Given the description of an element on the screen output the (x, y) to click on. 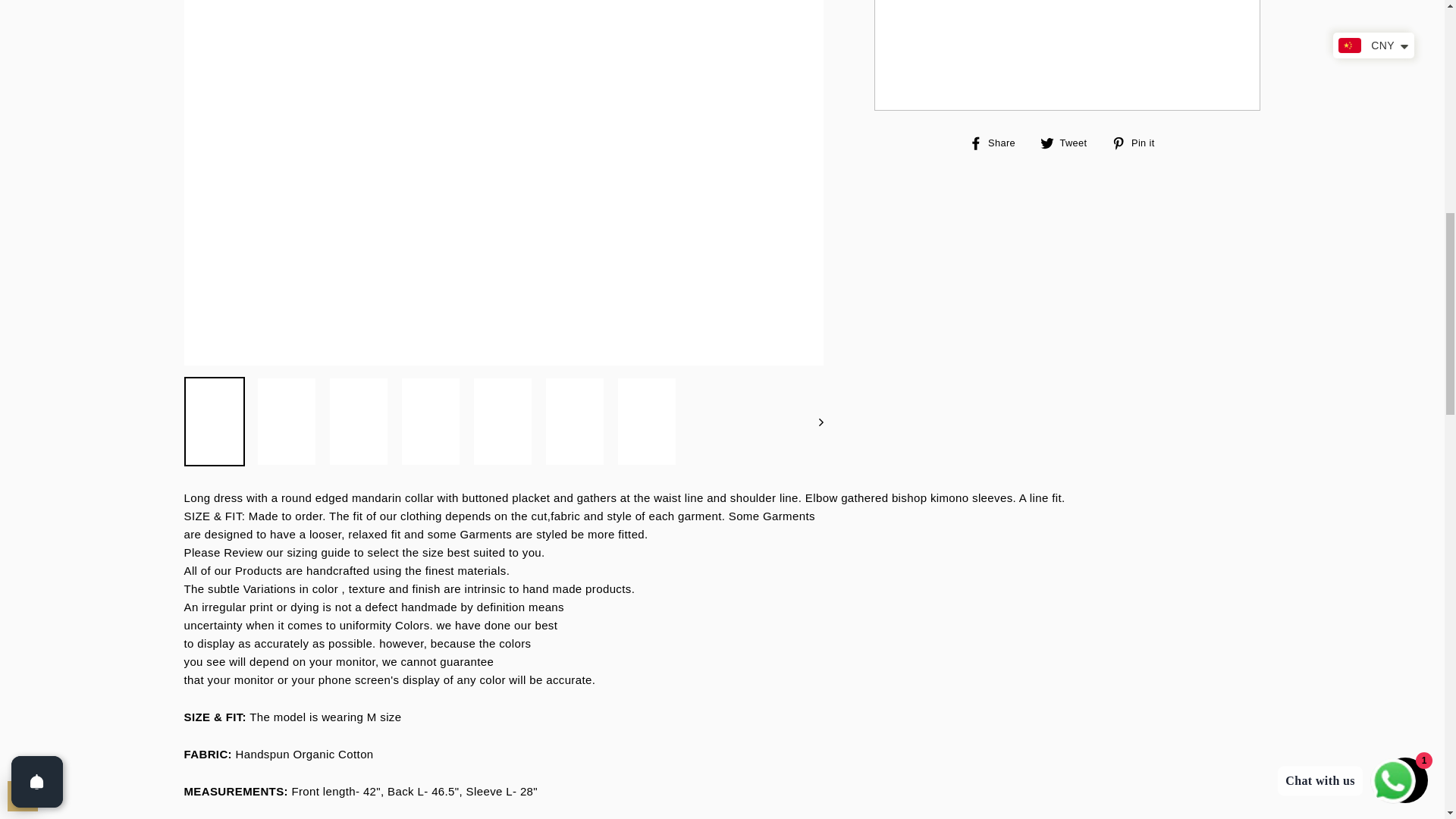
Pin on Pinterest (1139, 142)
Share on Facebook (997, 142)
Tweet on Twitter (1069, 142)
